Given the description of an element on the screen output the (x, y) to click on. 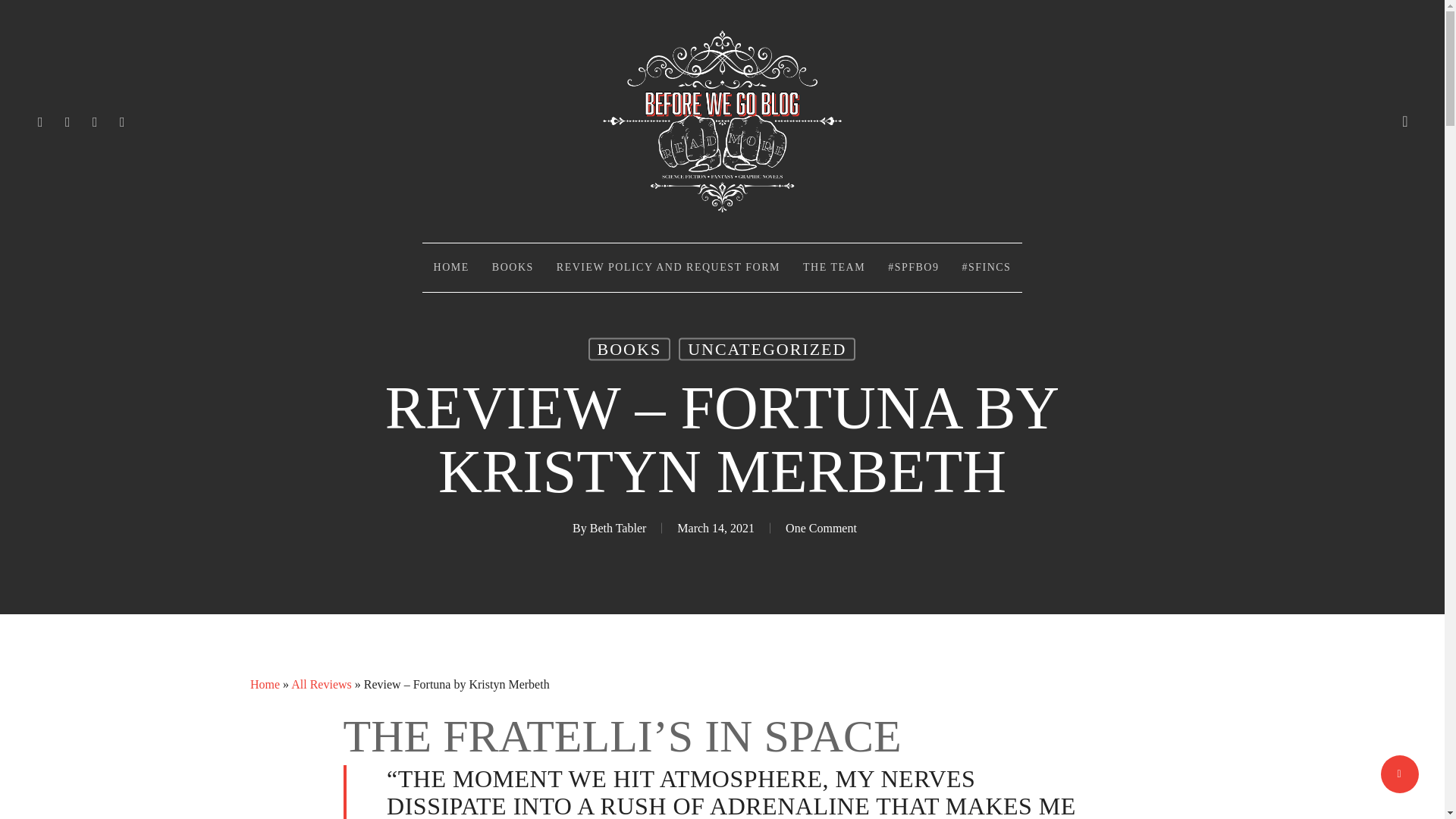
FACEBOOK (68, 121)
REVIEW POLICY AND REQUEST FORM (668, 267)
TWITTER (41, 121)
All Reviews (321, 684)
Posts by Beth Tabler (617, 527)
search (1404, 121)
Home (264, 684)
THE TEAM (834, 267)
PINTEREST (95, 121)
One Comment (821, 527)
INSTAGRAM (122, 121)
Beth Tabler (617, 527)
UNCATEGORIZED (767, 349)
BOOKS (629, 349)
BOOKS (512, 267)
